Given the description of an element on the screen output the (x, y) to click on. 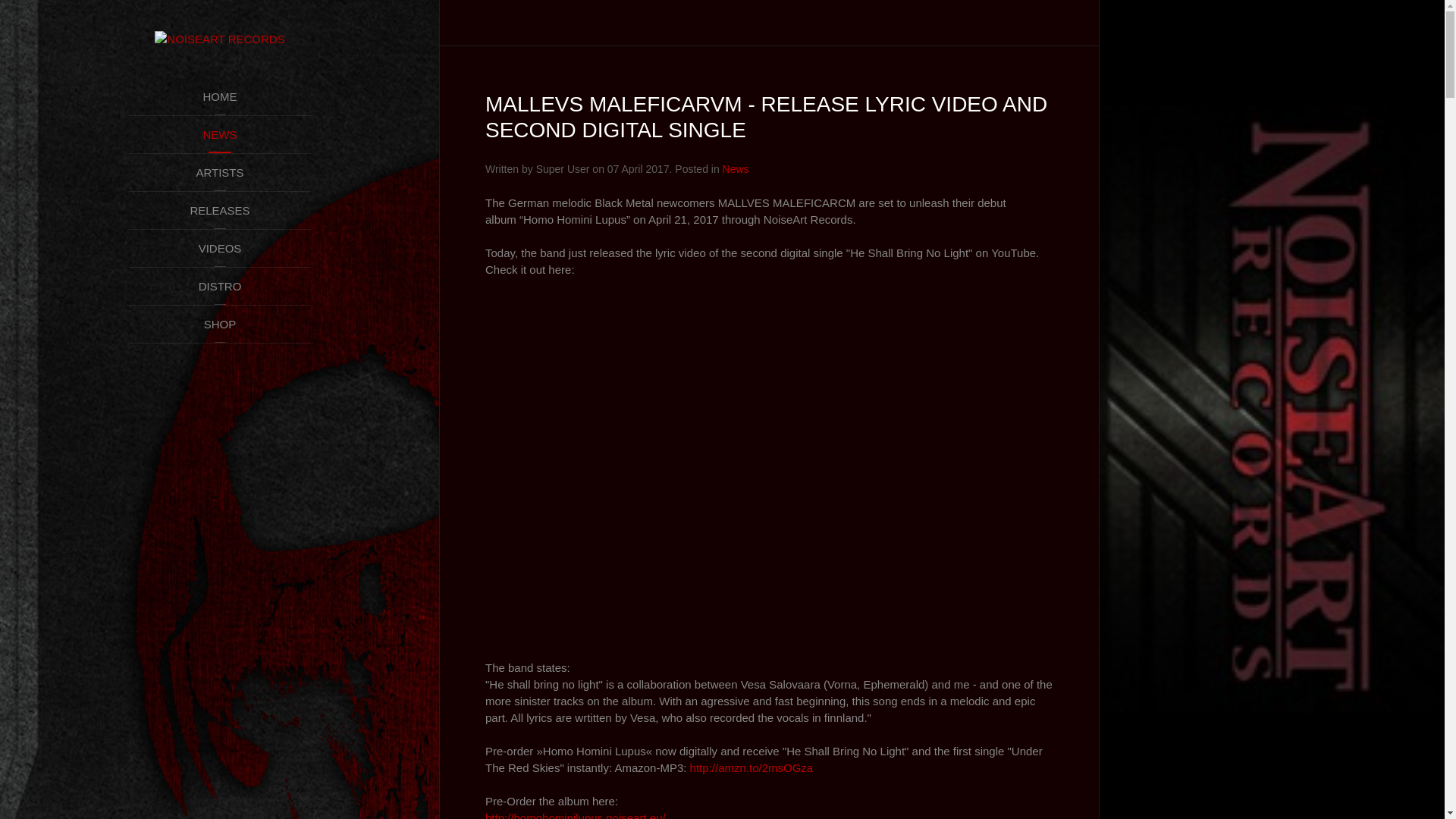
NEWS Element type: text (219, 134)
VIDEOS Element type: text (219, 248)
News Element type: text (735, 169)
DISTRO Element type: text (219, 286)
ARTISTS Element type: text (219, 172)
RELEASES Element type: text (219, 210)
SHOP Element type: text (219, 324)
http://amzn.to/2msOGza Element type: text (751, 767)
HOME Element type: text (219, 97)
JoomlaWorks AllVideos Player Element type: hover (769, 461)
